Given the description of an element on the screen output the (x, y) to click on. 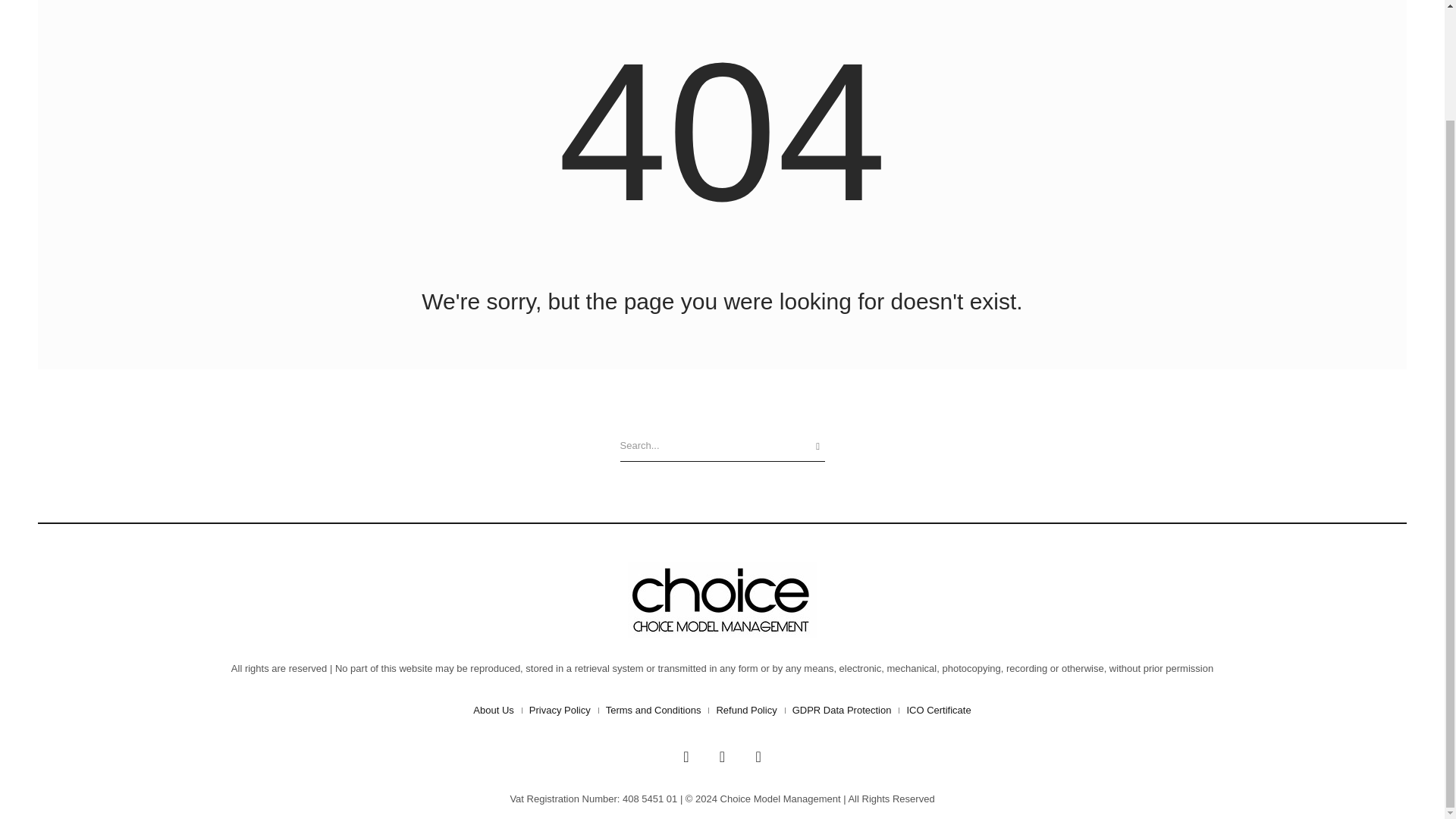
About Us (493, 710)
Privacy Policy (560, 710)
Choice Model Management (721, 599)
